Given the description of an element on the screen output the (x, y) to click on. 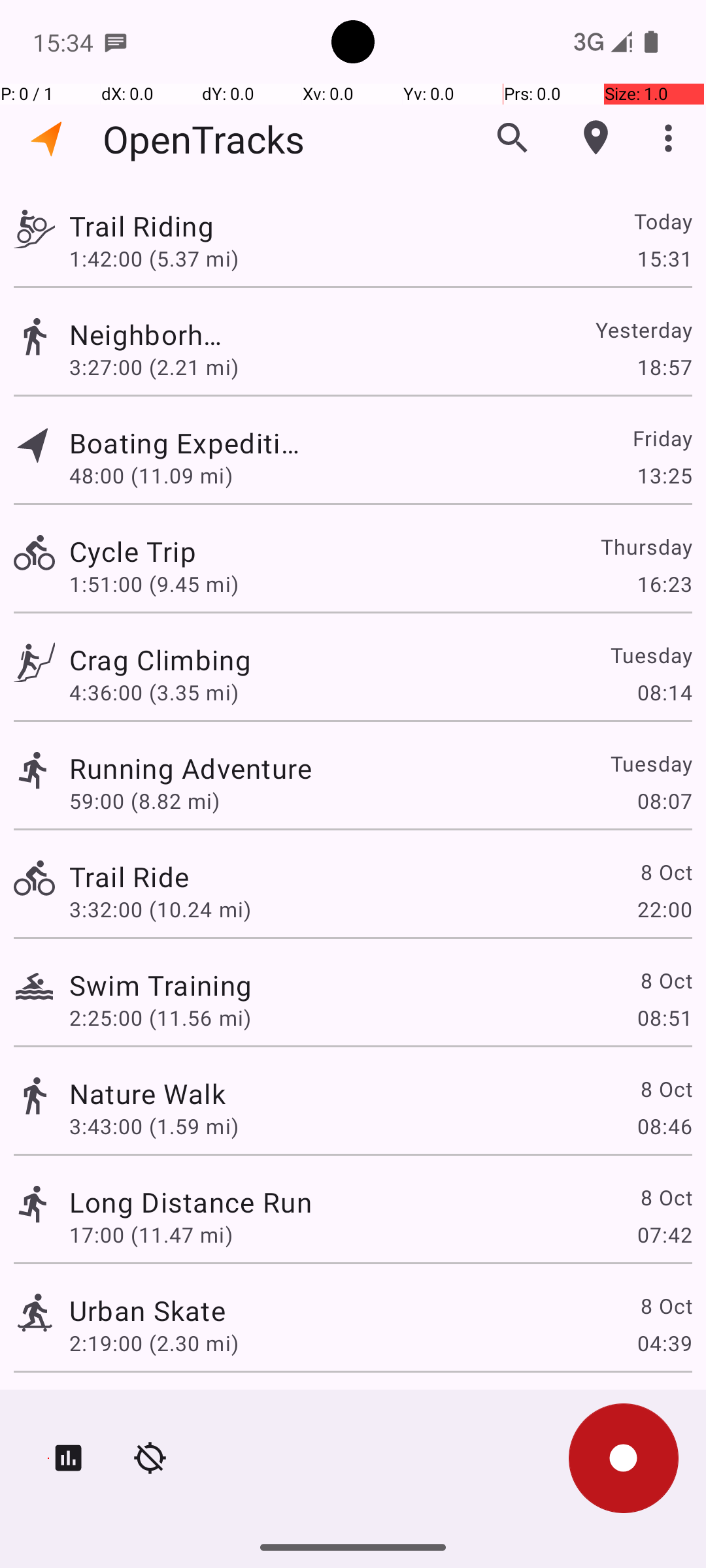
Trail Riding Element type: android.widget.TextView (160, 225)
1:42:00 (5.37 mi) Element type: android.widget.TextView (159, 258)
15:31 Element type: android.widget.TextView (664, 258)
Neighborhood Walk Element type: android.widget.TextView (147, 333)
3:27:00 (2.21 mi) Element type: android.widget.TextView (153, 366)
18:57 Element type: android.widget.TextView (664, 366)
Boating Expedition Element type: android.widget.TextView (190, 442)
48:00 (11.09 mi) Element type: android.widget.TextView (150, 475)
13:25 Element type: android.widget.TextView (664, 475)
Cycle Trip Element type: android.widget.TextView (147, 550)
1:51:00 (9.45 mi) Element type: android.widget.TextView (153, 583)
16:23 Element type: android.widget.TextView (664, 583)
Crag Climbing Element type: android.widget.TextView (229, 659)
4:36:00 (3.35 mi) Element type: android.widget.TextView (153, 692)
08:14 Element type: android.widget.TextView (664, 692)
Running Adventure Element type: android.widget.TextView (190, 767)
59:00 (8.82 mi) Element type: android.widget.TextView (144, 800)
08:07 Element type: android.widget.TextView (664, 800)
Trail Ride Element type: android.widget.TextView (128, 876)
8 Oct Element type: android.widget.TextView (665, 871)
3:32:00 (10.24 mi) Element type: android.widget.TextView (159, 909)
22:00 Element type: android.widget.TextView (664, 909)
Swim Training Element type: android.widget.TextView (160, 984)
2:25:00 (11.56 mi) Element type: android.widget.TextView (159, 1017)
08:51 Element type: android.widget.TextView (664, 1017)
Nature Walk Element type: android.widget.TextView (147, 1092)
3:43:00 (1.59 mi) Element type: android.widget.TextView (153, 1125)
08:46 Element type: android.widget.TextView (664, 1125)
Long Distance Run Element type: android.widget.TextView (190, 1201)
17:00 (11.47 mi) Element type: android.widget.TextView (150, 1234)
07:42 Element type: android.widget.TextView (664, 1234)
Urban Skate Element type: android.widget.TextView (147, 1309)
2:19:00 (2.30 mi) Element type: android.widget.TextView (153, 1342)
04:39 Element type: android.widget.TextView (664, 1342)
Snowboarding Excursion Element type: android.widget.TextView (229, 1408)
7 Oct Element type: android.widget.TextView (665, 1408)
